Given the description of an element on the screen output the (x, y) to click on. 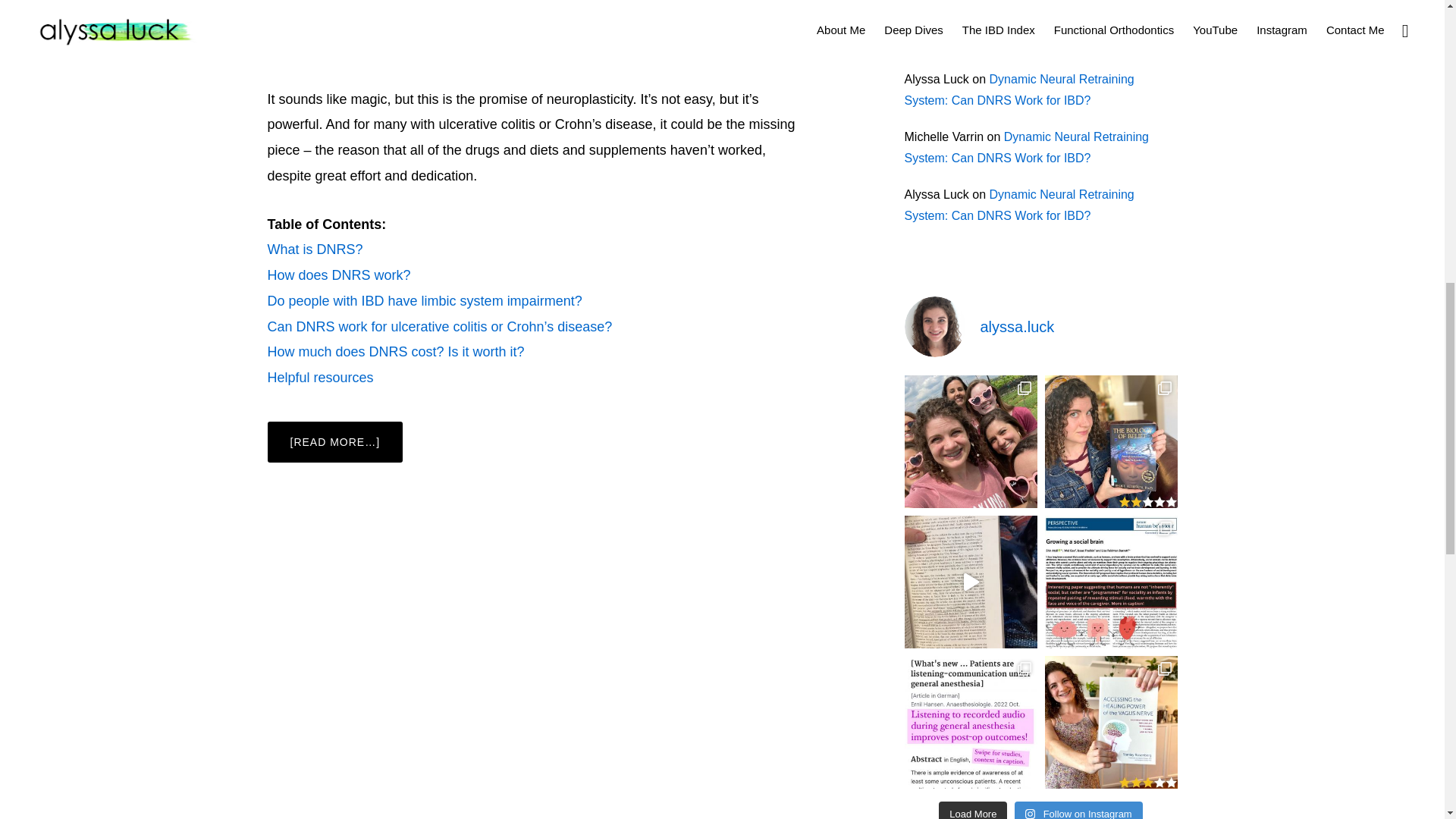
alyssa.luck (1040, 326)
Do people with IBD have limbic system impairment? (423, 300)
Helpful resources (319, 377)
Load More (973, 810)
Dynamic Neural Retraining System: Can DNRS Work for IBD? (1026, 147)
Dynamic Neural Retraining System: Can DNRS Work for IBD? (1019, 89)
How much does DNRS cost? Is it worth it? (395, 351)
Dynamic Neural Retraining System: Can DNRS Work for IBD? (1019, 204)
What is DNRS? (314, 249)
How does DNRS work? (338, 274)
